Given the description of an element on the screen output the (x, y) to click on. 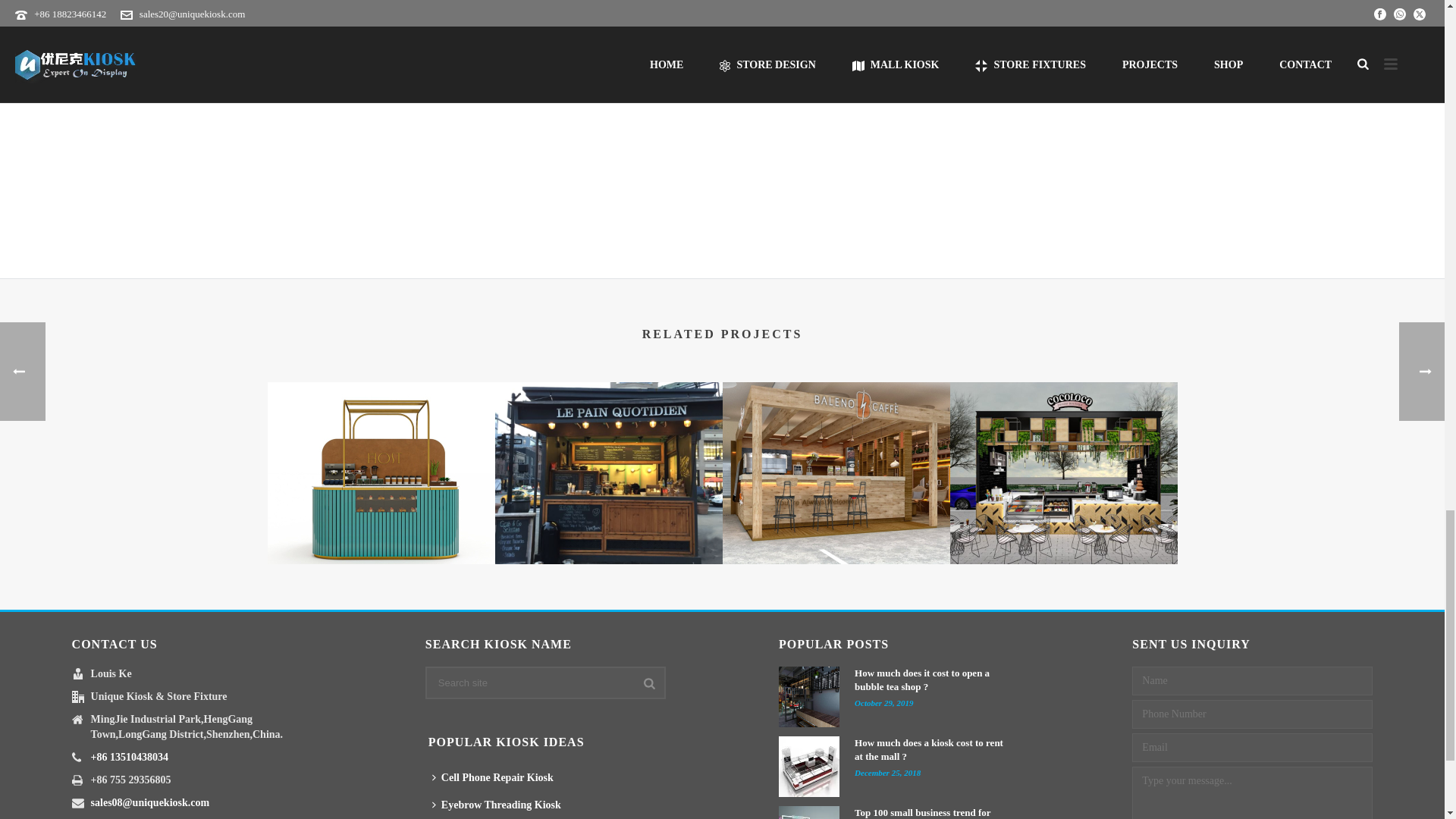
Modern green outdoor coffee kiosk for leisure for sale (1062, 473)
